Given the description of an element on the screen output the (x, y) to click on. 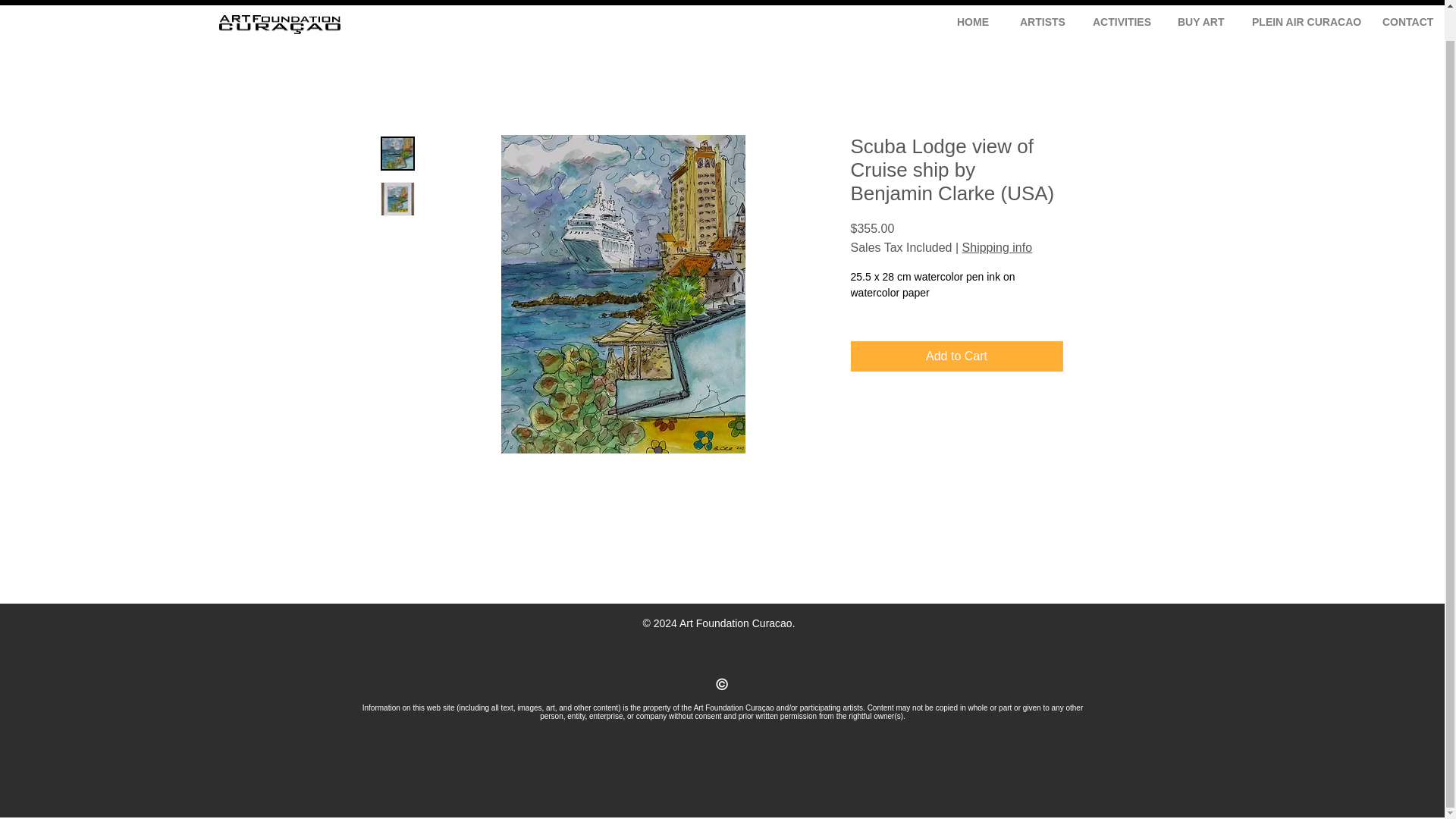
Home page (278, 1)
Add to Cart (956, 356)
Shipping info (997, 246)
